Given the description of an element on the screen output the (x, y) to click on. 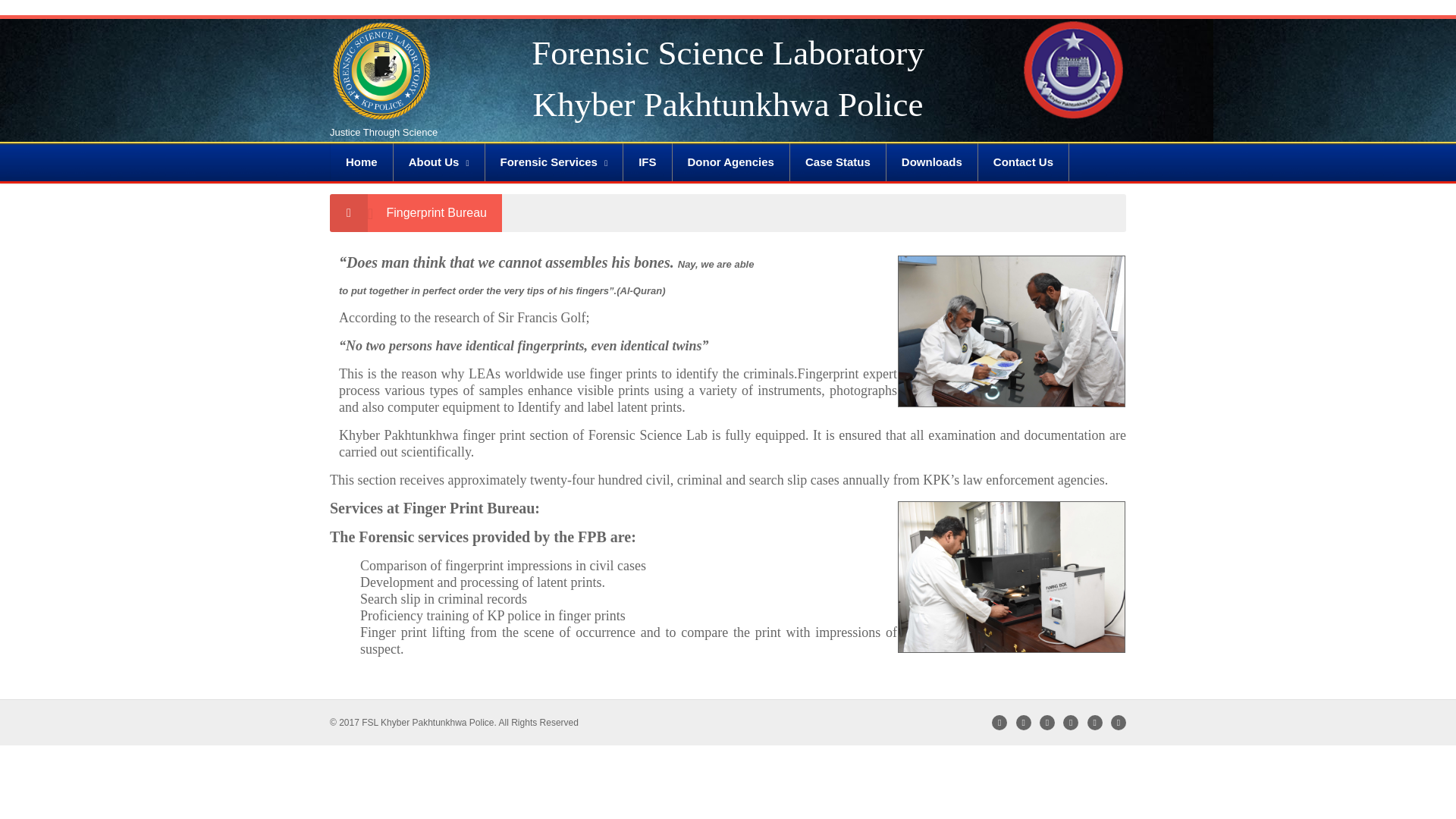
Forensic Services (554, 161)
IFS (647, 161)
About Us (438, 161)
Contact Us (1023, 161)
Downloads (932, 161)
Case Status (838, 161)
Donor Agencies (730, 161)
Home (361, 161)
